Given the description of an element on the screen output the (x, y) to click on. 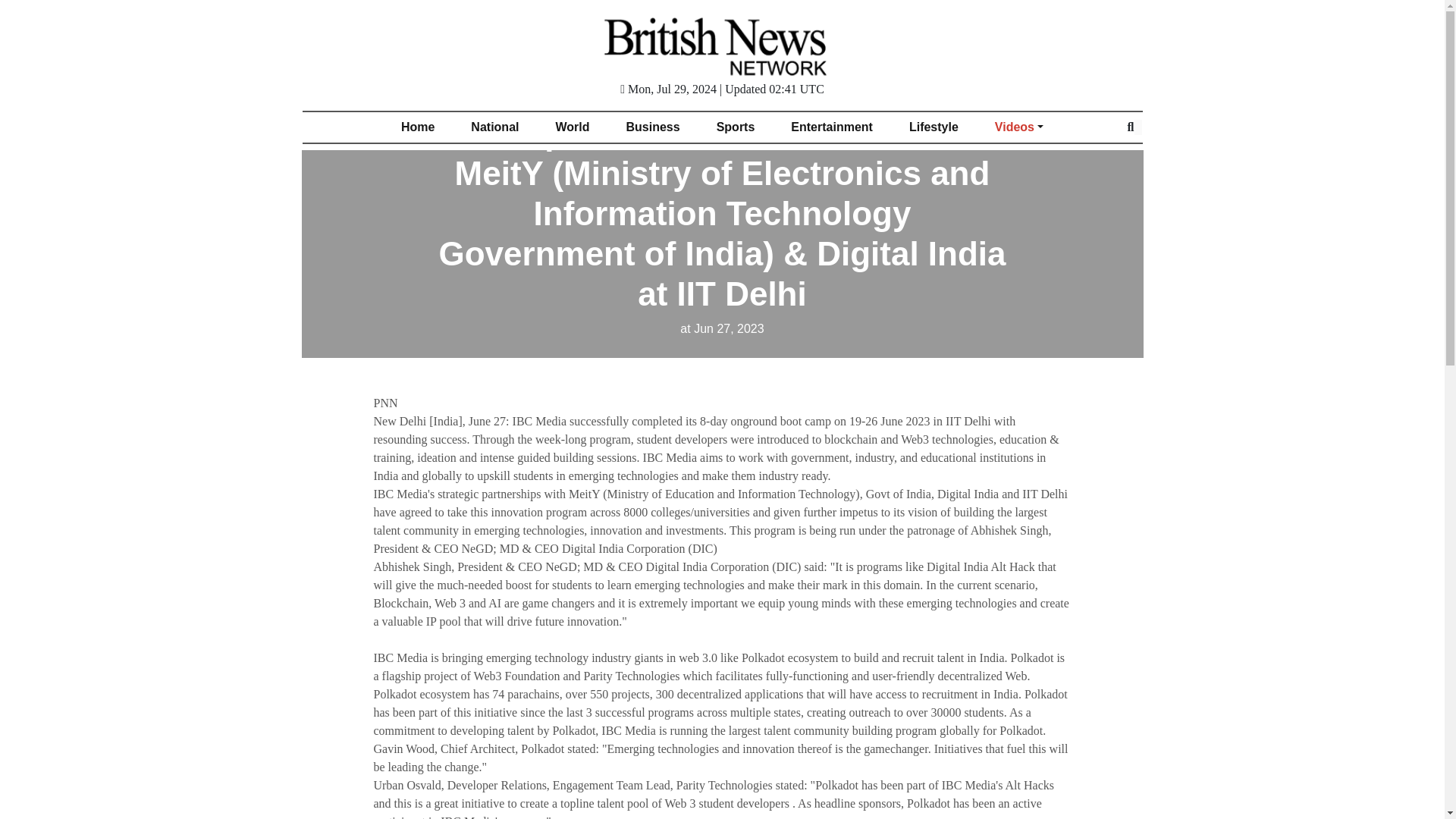
Sports (735, 127)
Videos (1018, 127)
Home (417, 127)
Jun 27, 2023 (720, 328)
Entertainment (832, 127)
Business (653, 127)
National (494, 127)
World (572, 127)
Lifestyle (933, 127)
